Given the description of an element on the screen output the (x, y) to click on. 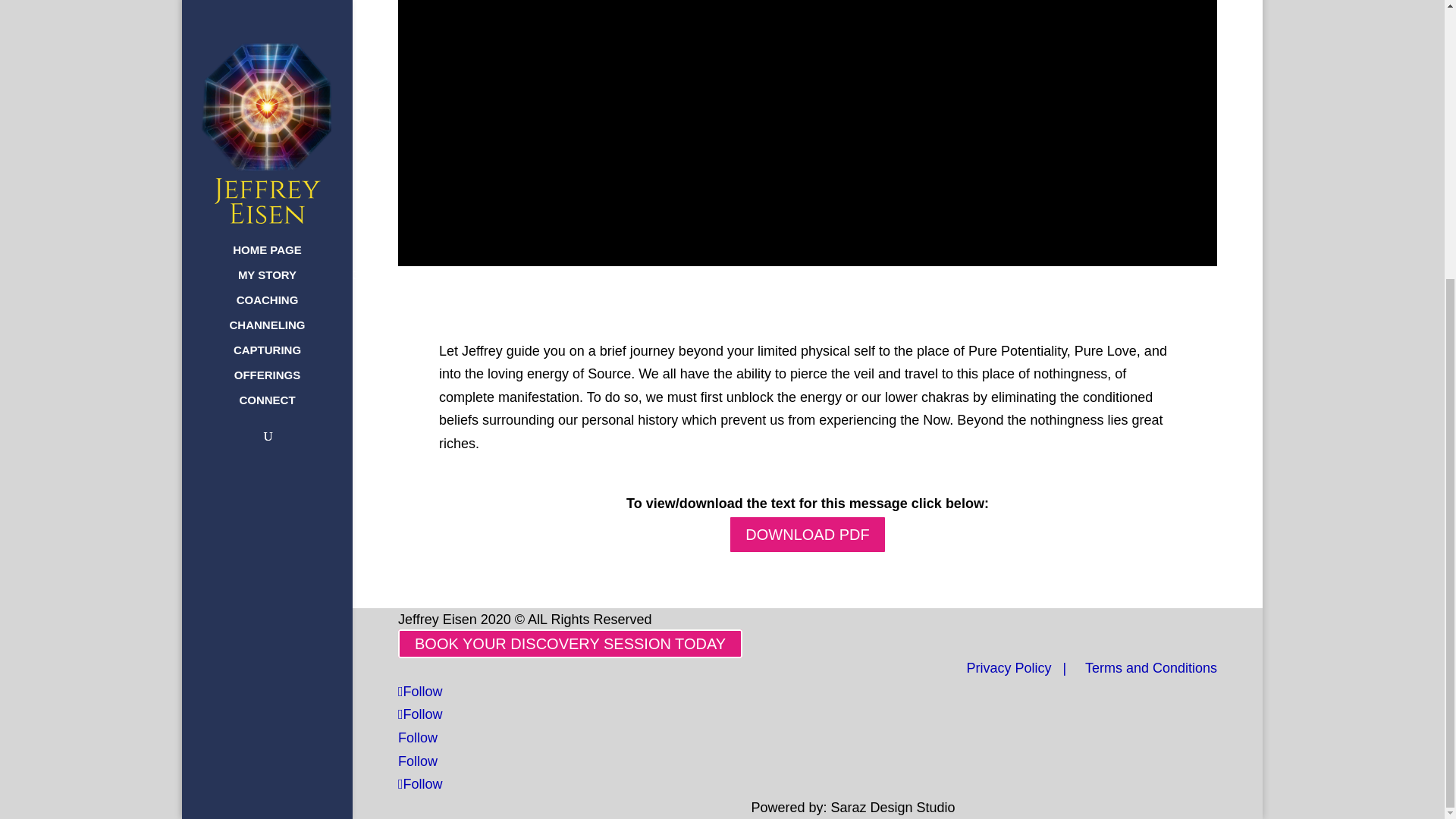
Follow (417, 761)
Follow on Youtube (417, 761)
Follow (419, 783)
BOOK YOUR DISCOVERY SESSION TODAY (569, 643)
Follow on Facebook (419, 691)
CONNECT (282, 2)
Follow on Instagram (419, 783)
Follow (419, 713)
Follow (417, 737)
Follow (419, 691)
Follow on X (419, 713)
DOWNLOAD PDF (807, 534)
Follow on LinkedIn (417, 737)
Terms and Conditions (1150, 667)
